Given the description of an element on the screen output the (x, y) to click on. 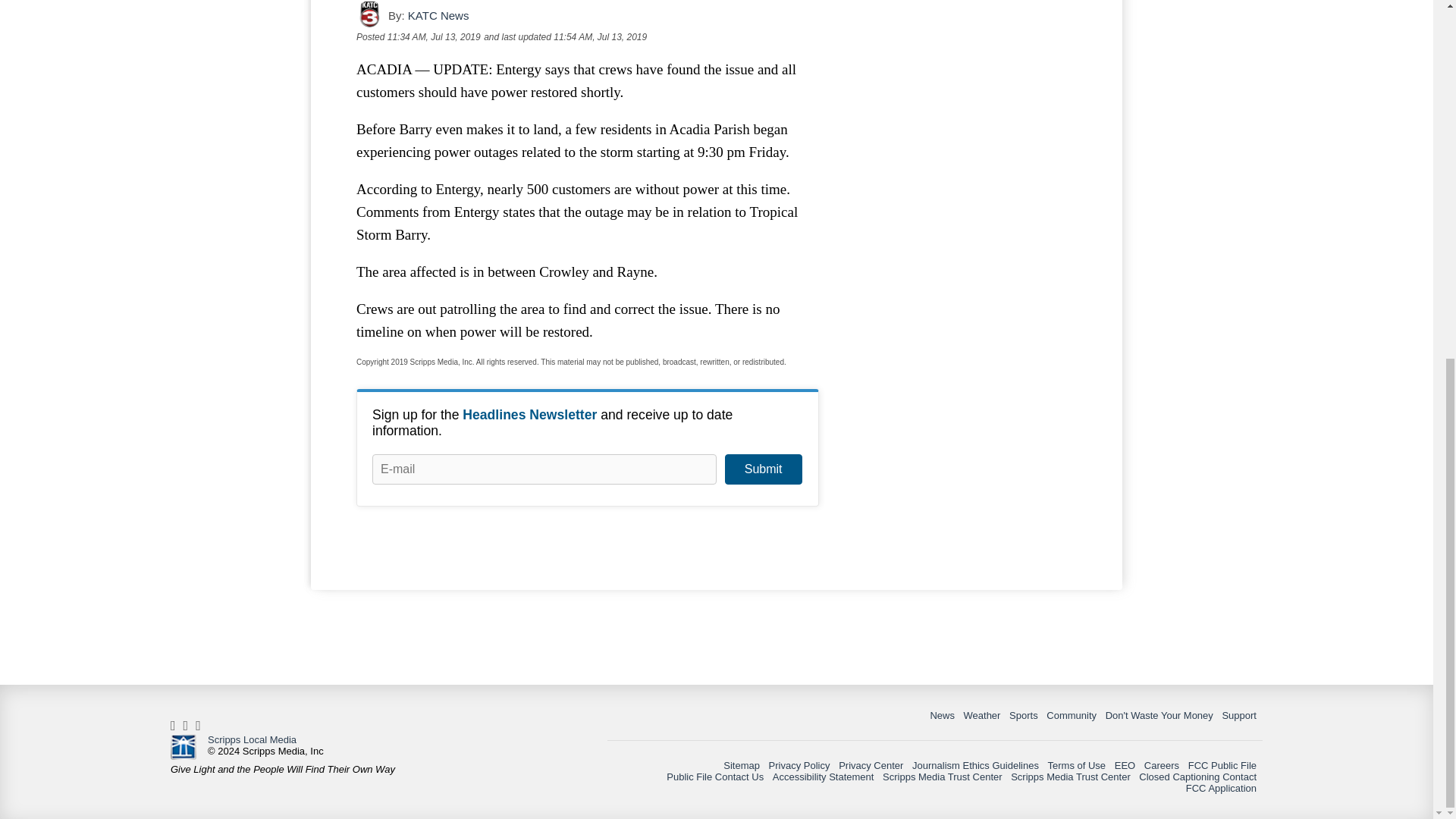
Submit (763, 469)
